Given the description of an element on the screen output the (x, y) to click on. 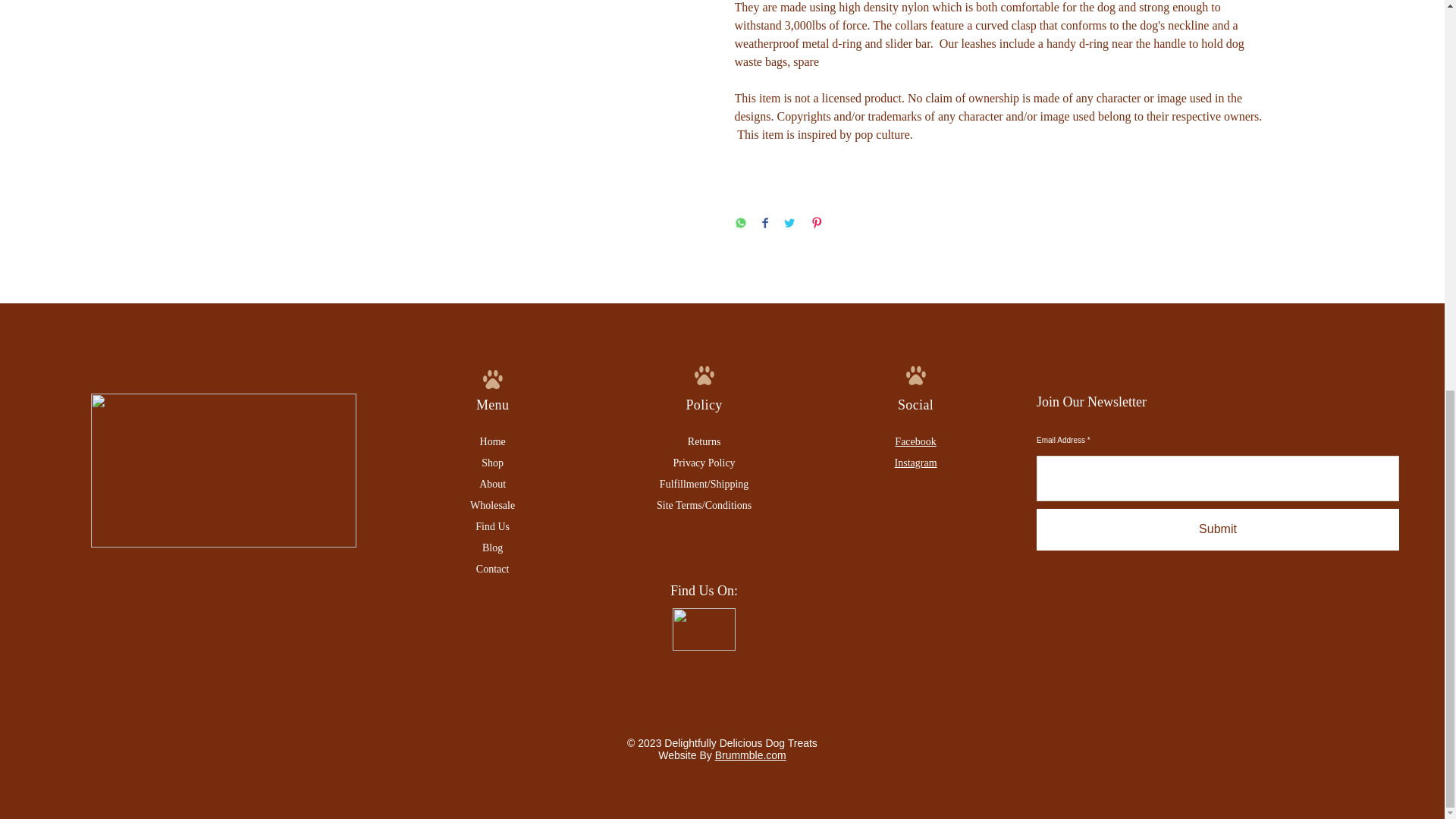
About (492, 483)
Facebook (915, 441)
Find Us (492, 526)
Wholesale (492, 505)
Submit (1217, 529)
Brummble.com (750, 755)
Privacy Policy (703, 462)
Home (492, 441)
Contact (492, 568)
Shop (492, 462)
